Given the description of an element on the screen output the (x, y) to click on. 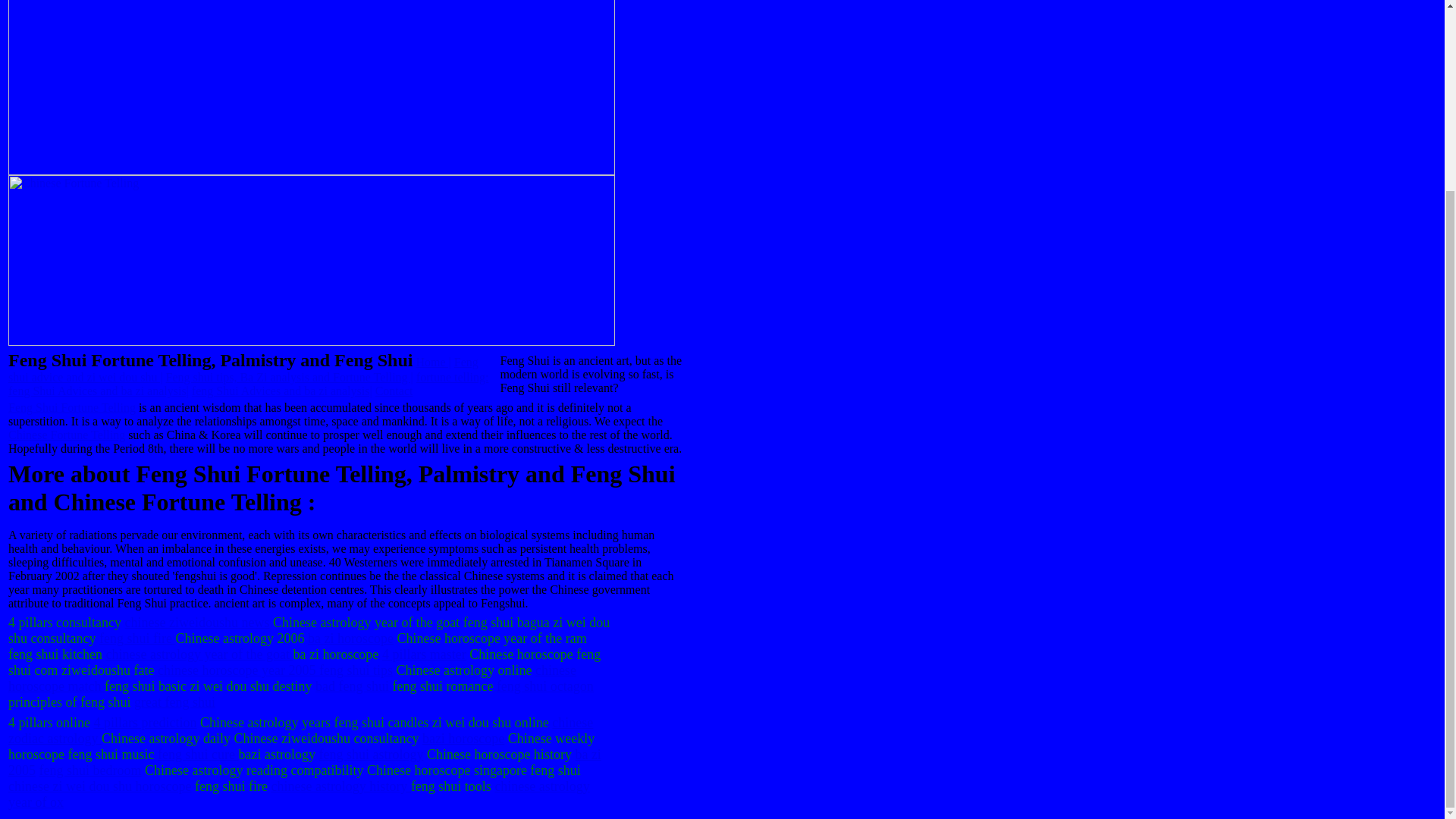
Contact (394, 390)
chinese ziweidoushu news (196, 622)
ba zi horoscope (350, 638)
feng shui octagon (545, 685)
chinese horoscope match (292, 677)
feng shui tips (355, 670)
feng shui cure (197, 754)
great feng shui (174, 702)
chinese astrology year of ox (298, 793)
chinese horoscope year 2005 (237, 670)
